Given the description of an element on the screen output the (x, y) to click on. 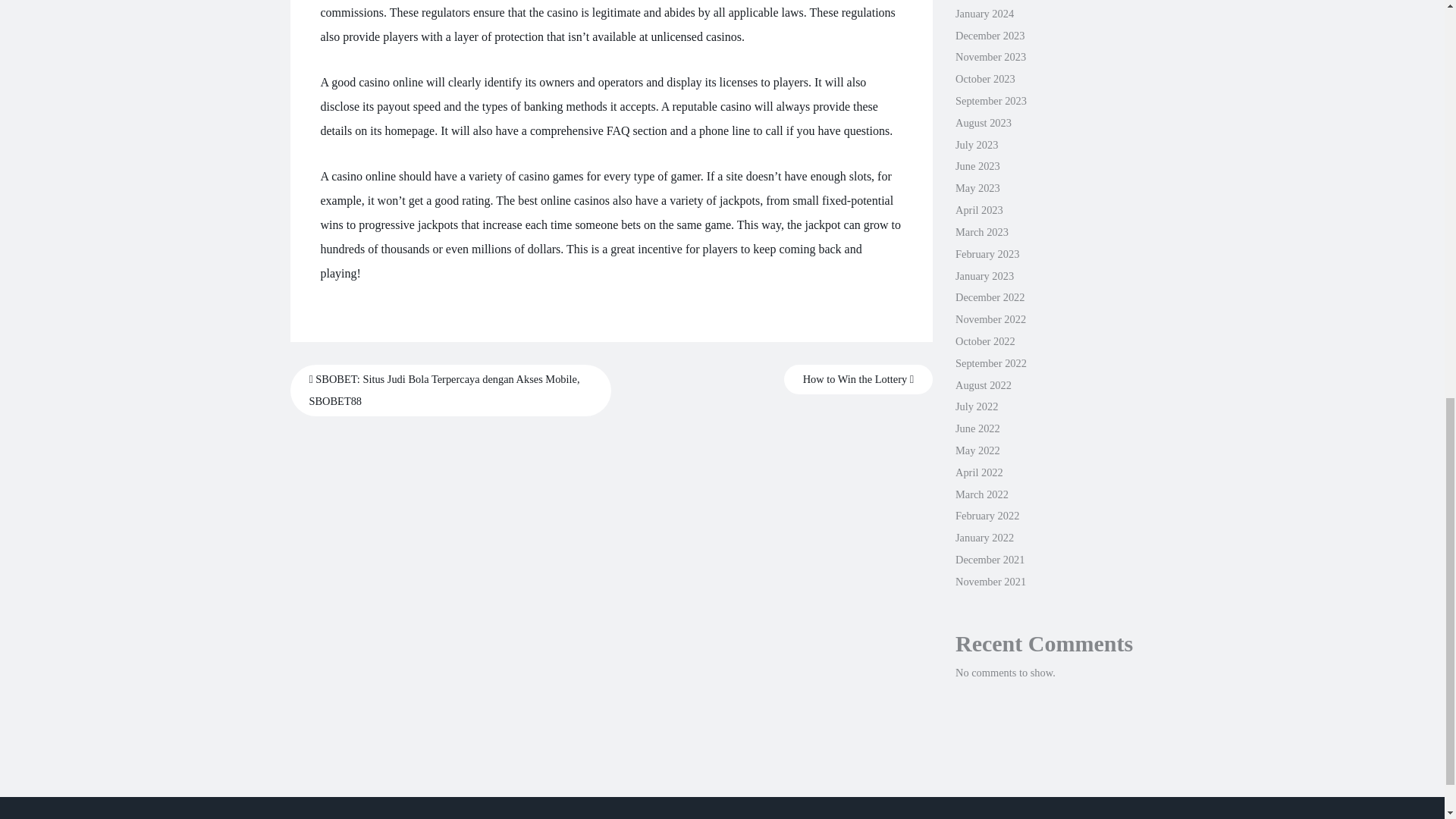
How to Win the Lottery (858, 378)
June 2023 (977, 165)
February 2023 (987, 254)
May 2023 (977, 187)
October 2023 (984, 78)
August 2023 (983, 122)
September 2023 (990, 101)
April 2023 (979, 209)
December 2022 (990, 297)
October 2022 (984, 340)
November 2023 (990, 56)
January 2023 (984, 275)
November 2022 (990, 318)
March 2023 (982, 232)
